Given the description of an element on the screen output the (x, y) to click on. 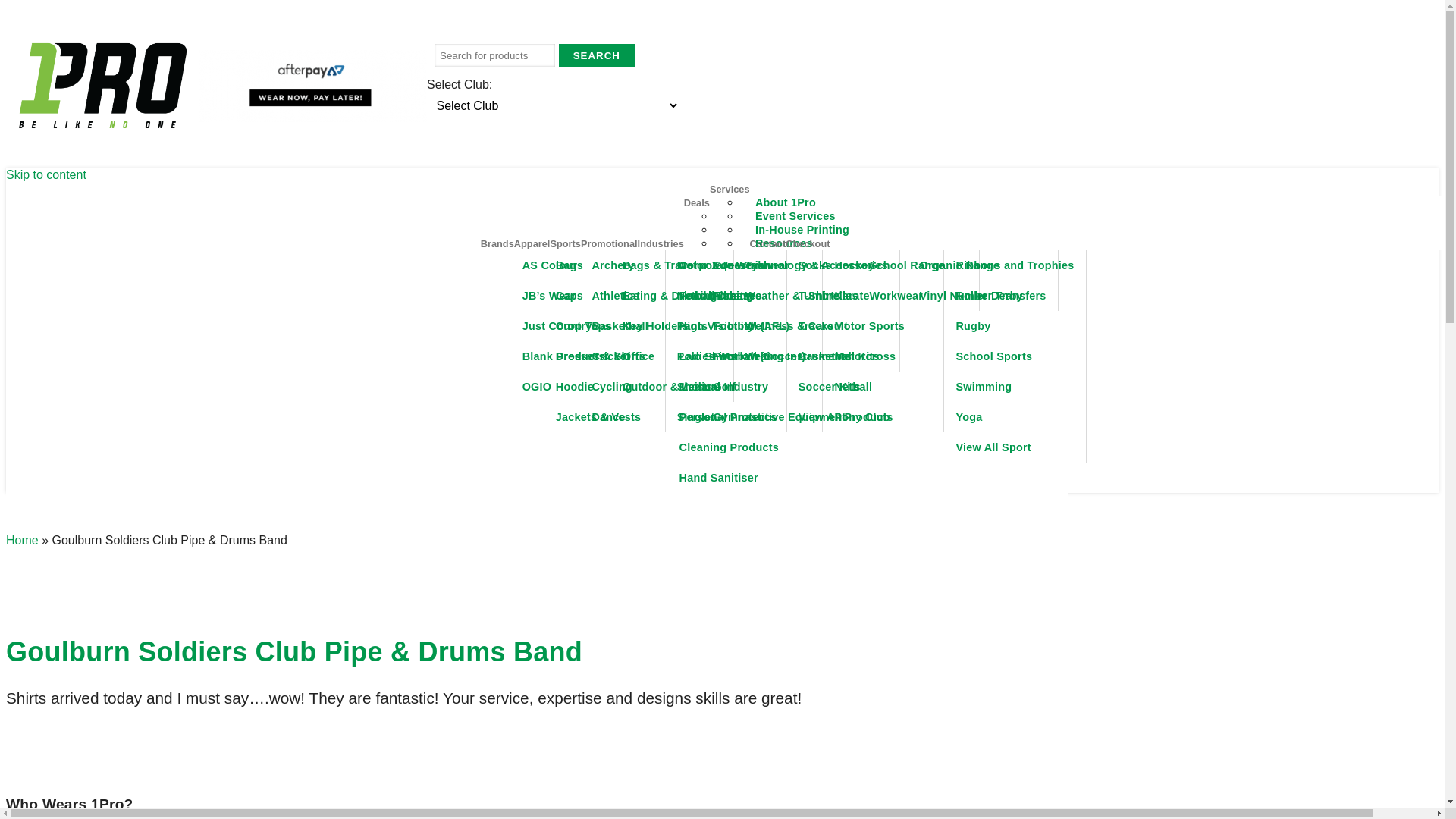
Dresses & Skirts Element type: text (604, 356)
Corporate Workwear Element type: text (762, 265)
Workwear Element type: text (918, 295)
Ladies Workwear Element type: text (762, 356)
School Sports Element type: text (1014, 356)
Soccer Kits Element type: text (847, 386)
Jackets & Vests Element type: text (604, 416)
Eating & Drinking Element type: text (672, 295)
School Range Element type: text (918, 265)
Event Services Element type: text (795, 215)
Drink Bottle Stock Clearance Element type: text (807, 229)
In-House Printing Element type: text (802, 229)
Checkout Element type: text (807, 243)
Skip to content Element type: text (46, 174)
Sports Element type: text (564, 243)
Golf Element type: text (761, 386)
Ribbons and Trophies Element type: text (1014, 265)
Gymnastics Element type: text (761, 416)
About 1Pro Element type: text (785, 202)
Pants Element type: text (725, 325)
T-Shirts Element type: text (847, 295)
Shorts Element type: text (725, 386)
View All Products Element type: text (847, 416)
OGIO Element type: text (571, 386)
High Visibility Element type: text (762, 325)
Vinyl Number Transfers Element type: text (982, 295)
Dance Element type: text (640, 416)
Pony Club Element type: text (882, 416)
Swimming Element type: text (1014, 386)
RAT Test Clearance Element type: text (781, 215)
Medical Industry Element type: text (762, 386)
Key Holders Element type: text (672, 325)
Office Element type: text (672, 356)
home Element type: hover (102, 86)
Motorcross Element type: text (882, 356)
Bags Element type: text (604, 265)
Technology & Accessories Element type: text (816, 265)
Bags & Travel Element type: text (672, 265)
Food Industry Element type: text (762, 295)
Motor X Jerseys Element type: text (725, 265)
Services Element type: text (729, 188)
Rugby Element type: text (1014, 325)
Industries Element type: text (660, 243)
Cricket Element type: text (640, 356)
Home Element type: text (22, 539)
Deals Element type: text (696, 202)
Tag A Tradie Element type: text (762, 242)
Cleaning Products Element type: text (762, 447)
Blank Products Element type: text (571, 356)
Archery Element type: text (640, 265)
Personal Protective Equipment Element type: text (762, 416)
AS Colour Element type: text (571, 265)
Karate Element type: text (882, 295)
Apparel Element type: text (532, 243)
Organic Range Element type: text (982, 265)
Netball Element type: text (882, 386)
Writing Instruments Element type: text (816, 356)
Brands Element type: text (497, 243)
Weather & Umbrellas Element type: text (816, 295)
Toggle navigation Element type: text (1356, 203)
Fishing Element type: text (761, 295)
Wellness & Care Element type: text (816, 325)
Athletics Element type: text (640, 295)
Promotional Element type: text (608, 243)
Search Element type: text (596, 54)
Hockey Element type: text (882, 265)
Hoodie Element type: text (604, 386)
Resources Element type: text (784, 242)
Caps Element type: text (604, 295)
Just Country Element type: text (571, 325)
Basketball Element type: text (640, 325)
Motor Sports Element type: text (882, 325)
Yoga Element type: text (1014, 416)
Tracksuit Element type: text (847, 325)
Basketball Kits Element type: text (847, 356)
Roller Derby Element type: text (1014, 295)
Cycling Element type: text (640, 386)
Football (Soccer) Element type: text (761, 356)
Football (AFL) Element type: text (761, 325)
Polo Shirts Element type: text (725, 356)
Goulburn Soldiers Club Pipe & Drums Band Element type: text (294, 651)
Equestrian Element type: text (761, 265)
Singlet Element type: text (725, 416)
Outdoor & Leisure Element type: text (672, 386)
Contact Element type: text (767, 243)
Socks Element type: text (847, 265)
Hand Sanitiser Element type: text (762, 477)
View All Sport Element type: text (1014, 447)
Netball Dresses Element type: text (725, 295)
Crop Tops Element type: text (604, 325)
